Given the description of an element on the screen output the (x, y) to click on. 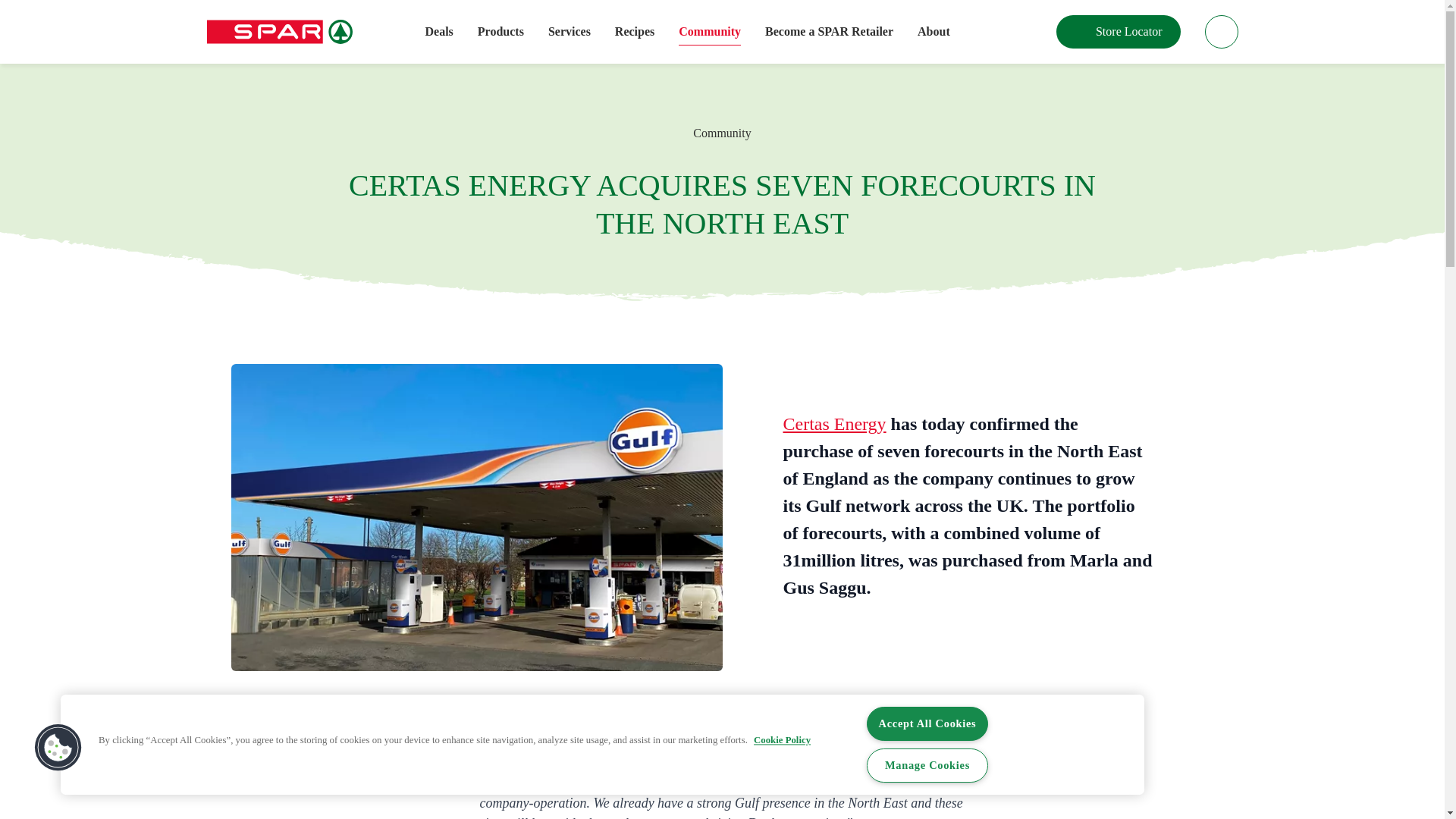
Certas Energy (834, 424)
Cookies Button (57, 748)
Community (709, 31)
Services (569, 31)
Recipes (633, 31)
Products (500, 31)
